Given the description of an element on the screen output the (x, y) to click on. 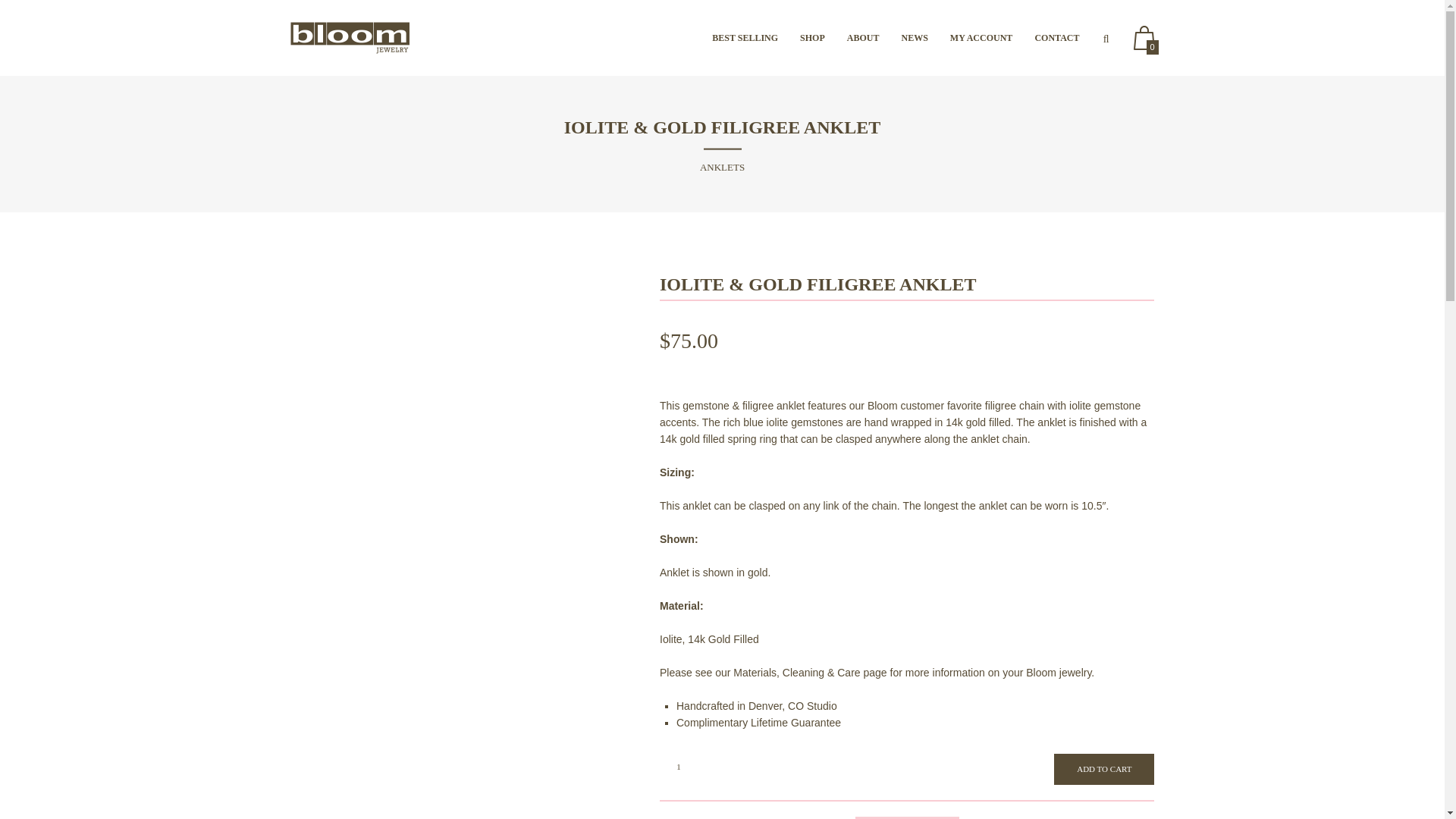
Skip to primary content (764, 37)
Bloom Jewelry (349, 37)
1 (678, 766)
Skip to secondary content (771, 37)
